Given the description of an element on the screen output the (x, y) to click on. 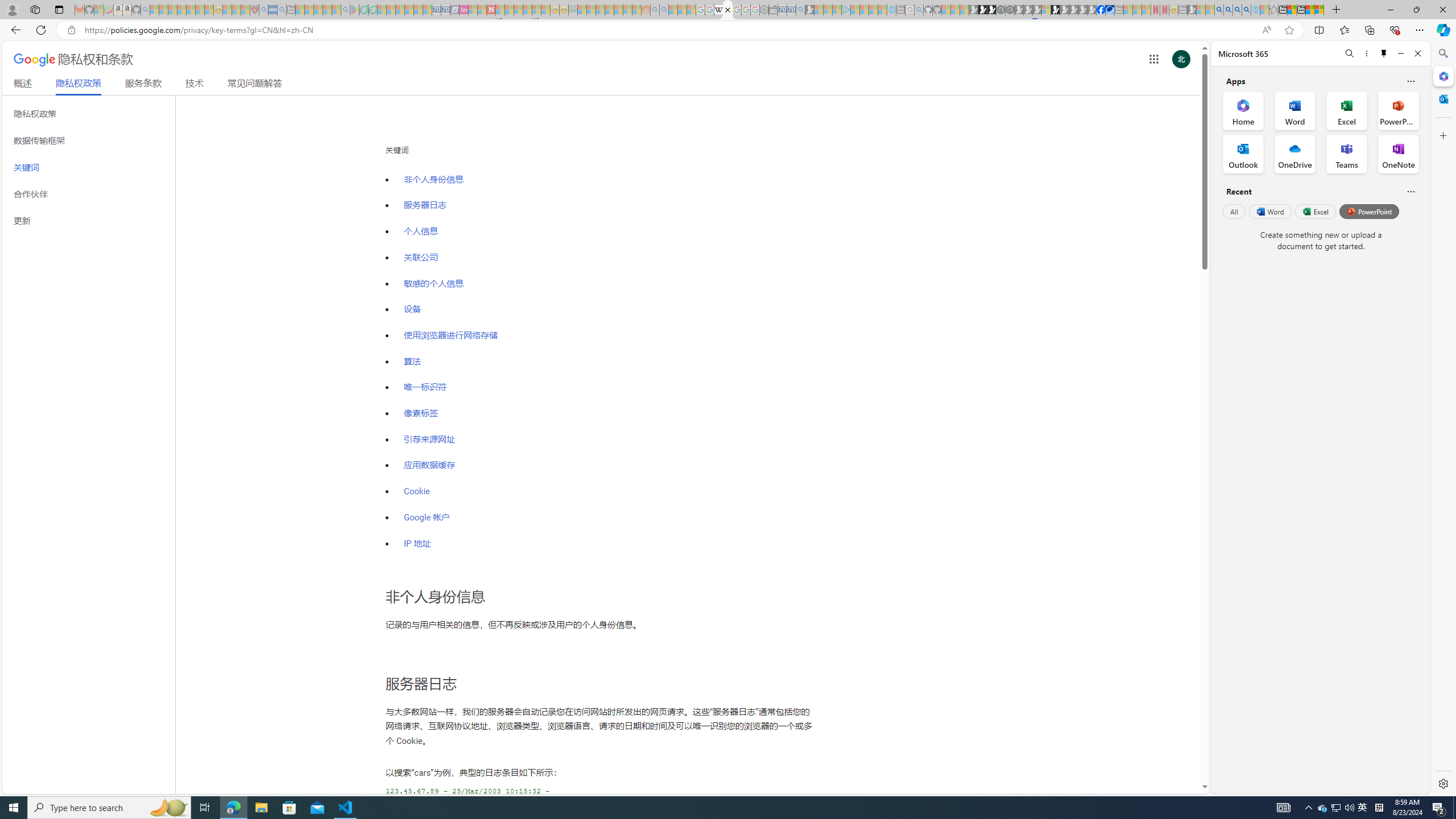
Play Zoo Boom in your browser | Games from Microsoft Start (981, 9)
Target page - Wikipedia (718, 9)
